Given the description of an element on the screen output the (x, y) to click on. 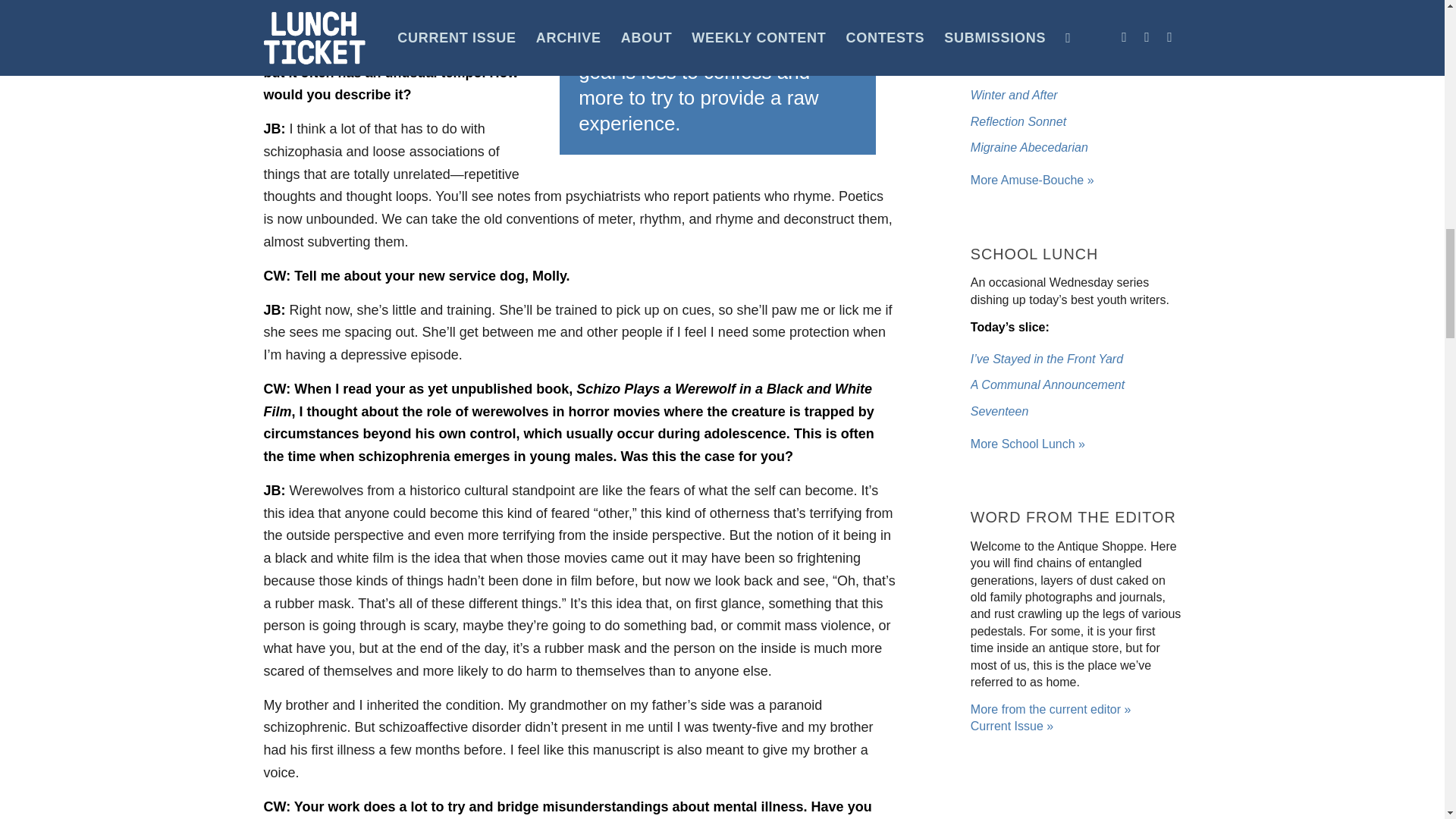
Permanent Link: Migraine Abecedarian (1029, 146)
Permanent Link: Reflection Sonnet (1018, 121)
Permanent Link: Winter and After (1014, 94)
Welcome to Lunch Ticket (1032, 179)
